Given the description of an element on the screen output the (x, y) to click on. 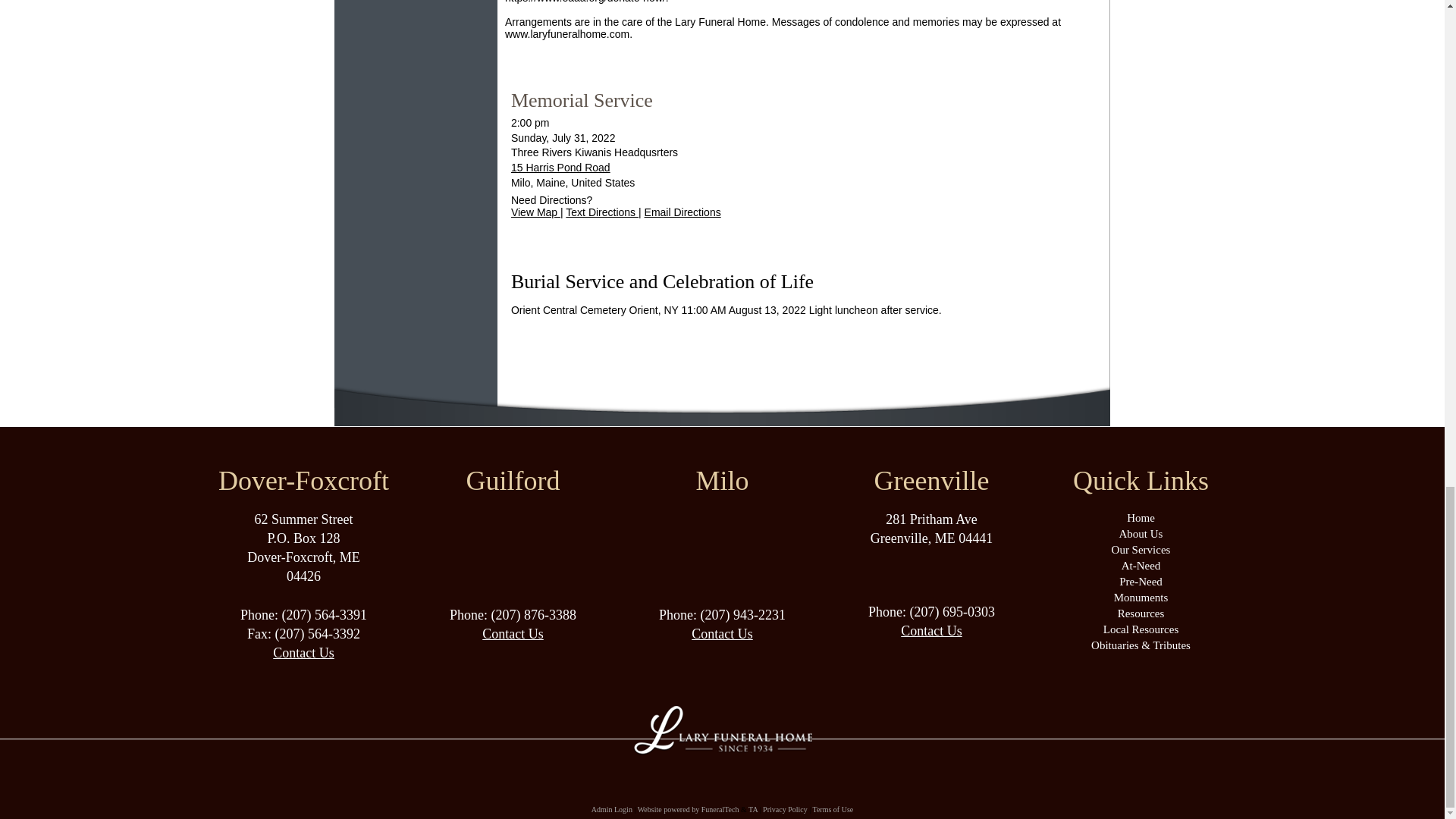
Resources (1141, 613)
Monuments (1141, 597)
Contact Us (721, 633)
Our Services (1141, 549)
At-Need (1140, 565)
Contact Us (303, 652)
Contact Us (931, 630)
Pre-Need (1140, 581)
Contact Us (512, 633)
About Us (1141, 541)
